Given the description of an element on the screen output the (x, y) to click on. 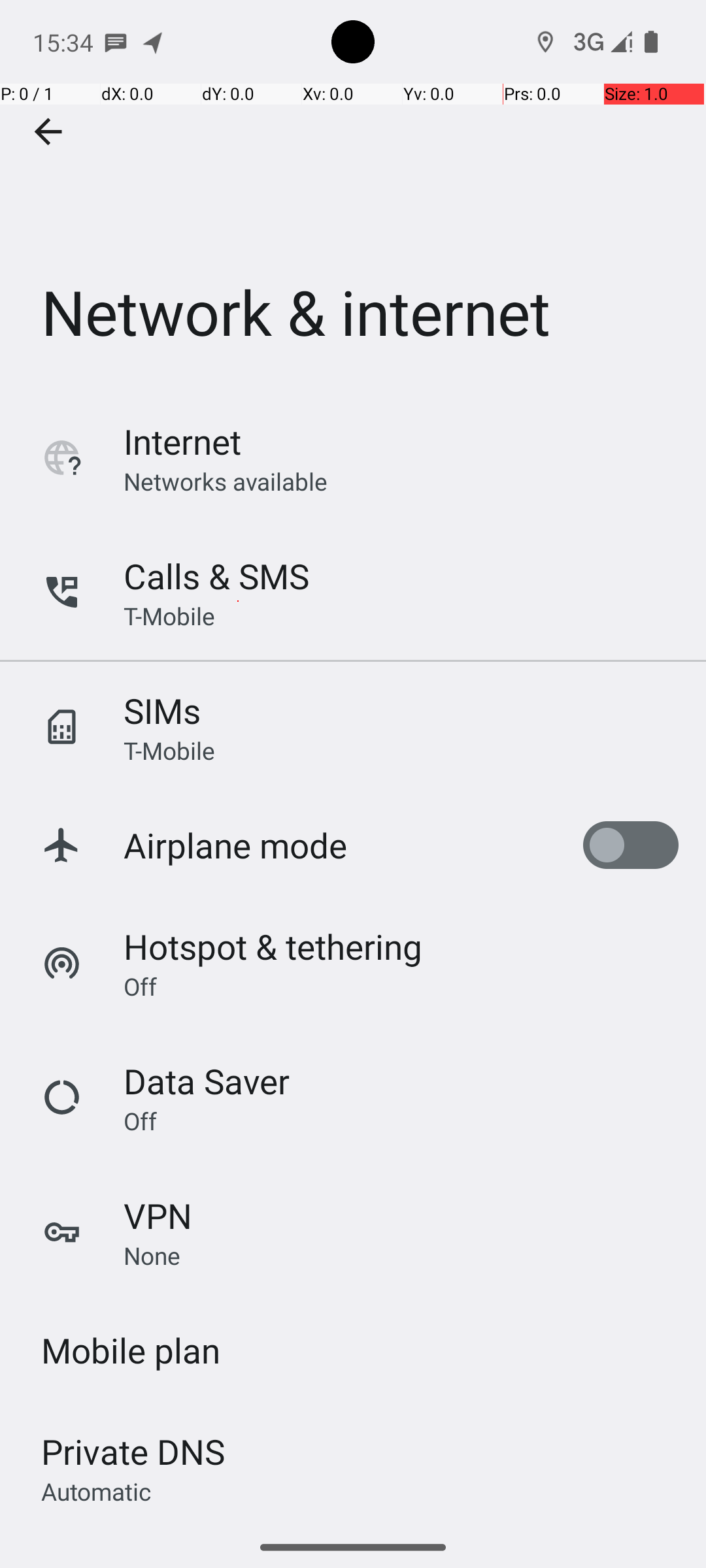
Internet Element type: android.widget.TextView (182, 441)
Networks available Element type: android.widget.TextView (225, 480)
Calls & SMS Element type: android.widget.TextView (216, 575)
T-Mobile Element type: android.widget.TextView (169, 615)
SIMs Element type: android.widget.TextView (161, 710)
Airplane mode Element type: android.widget.TextView (235, 844)
Hotspot & tethering Element type: android.widget.TextView (272, 946)
Data Saver Element type: android.widget.TextView (206, 1080)
VPN Element type: android.widget.TextView (157, 1215)
Mobile plan Element type: android.widget.TextView (130, 1349)
Private DNS Element type: android.widget.TextView (132, 1451)
Automatic Element type: android.widget.TextView (96, 1490)
